Given the description of an element on the screen output the (x, y) to click on. 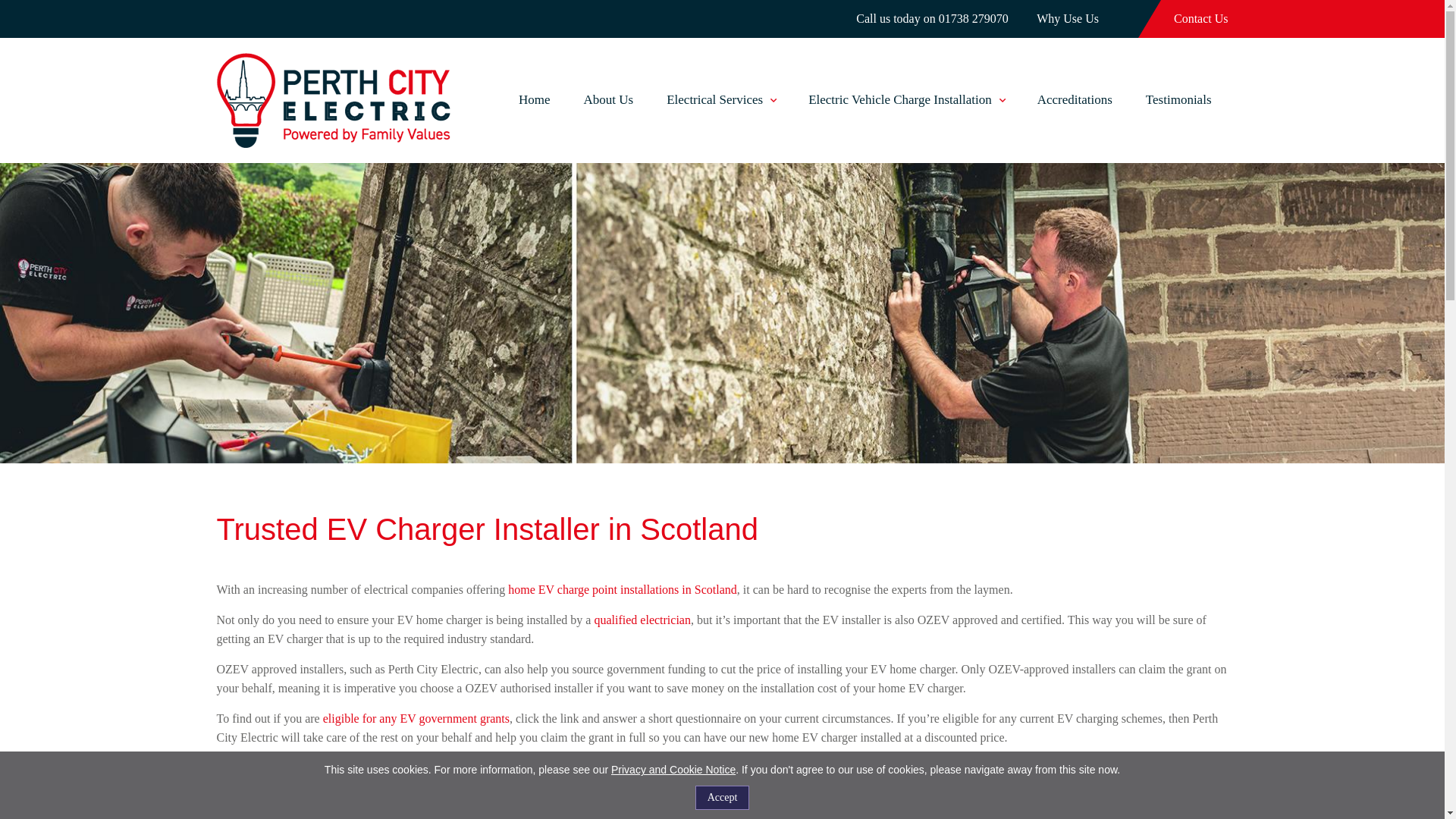
Why Use Us (1067, 18)
Contact Us (1200, 18)
Privacy and Cookie Notice (673, 769)
eligible for any EV government grants (416, 717)
Accept (722, 797)
Testimonials (1178, 99)
Electrical Services (720, 99)
Accept (722, 797)
Electric Vehicle Charge Installation (906, 99)
About Us (608, 99)
Accreditations (1074, 99)
Home (534, 99)
home EV charge point installations in Scotland (622, 589)
qualified electrician (642, 619)
